Given the description of an element on the screen output the (x, y) to click on. 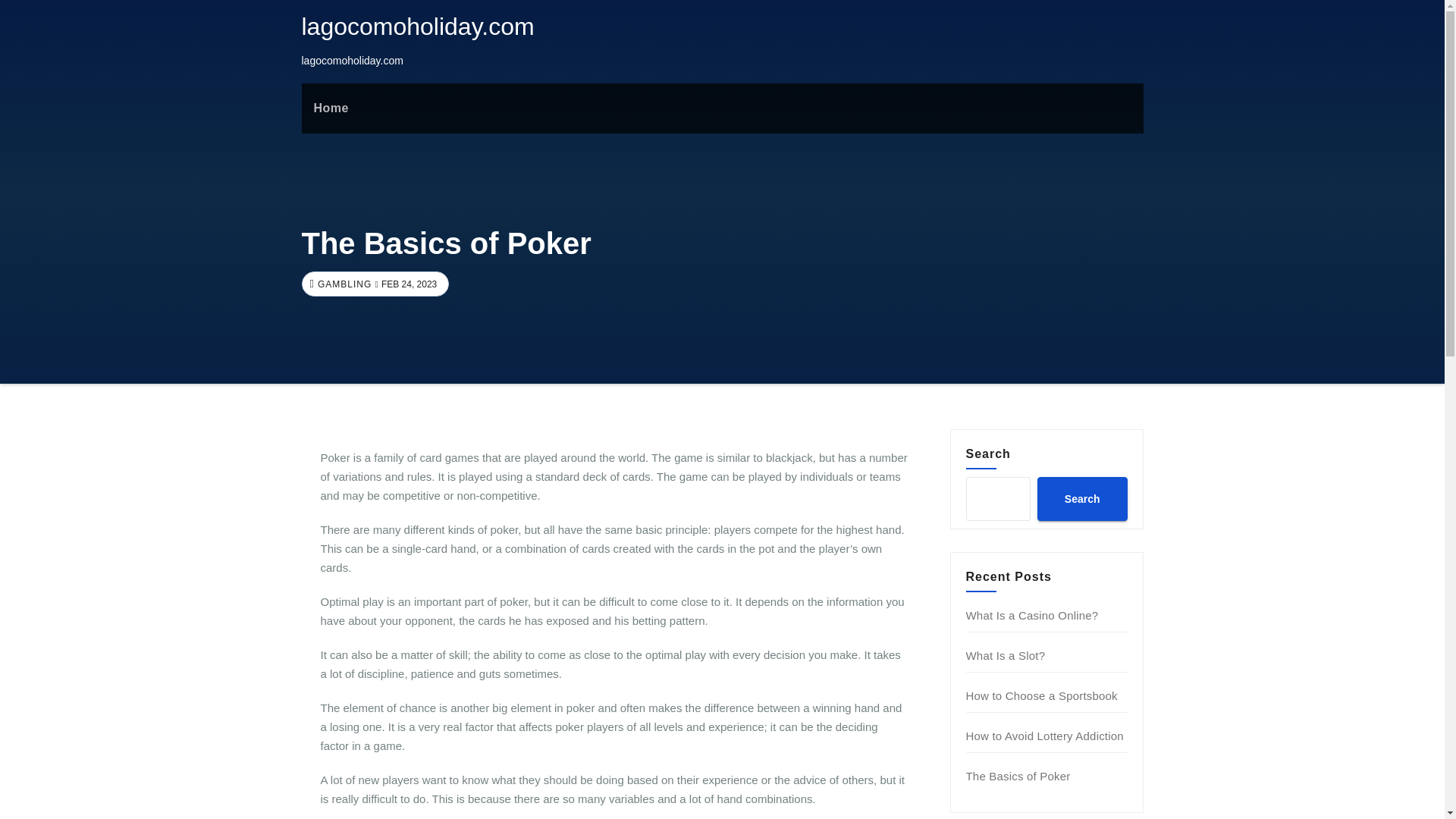
How to Avoid Lottery Addiction (1045, 735)
What Is a Casino Online? (1032, 615)
How to Choose a Sportsbook (1042, 695)
GAMBLING (342, 284)
Home (331, 108)
Search (1081, 498)
Home (331, 108)
The Basics of Poker (1018, 775)
What Is a Slot? (1005, 655)
lagocomoholiday.com (417, 26)
